Given the description of an element on the screen output the (x, y) to click on. 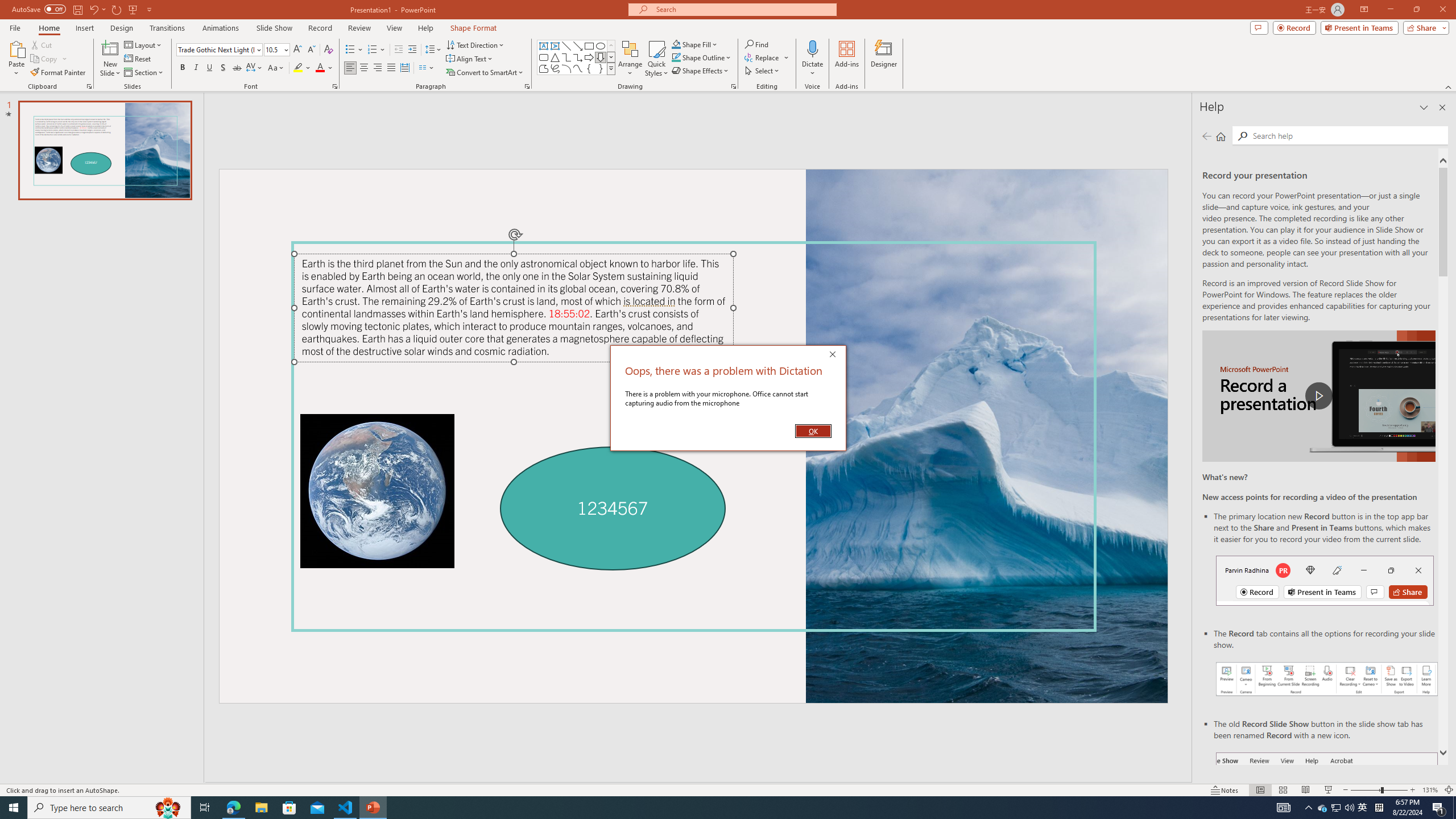
Running applications (700, 807)
Microsoft Edge - 1 running window (233, 807)
Shape Outline Teal, Accent 1 (675, 56)
Shape Outline (701, 56)
